Given the description of an element on the screen output the (x, y) to click on. 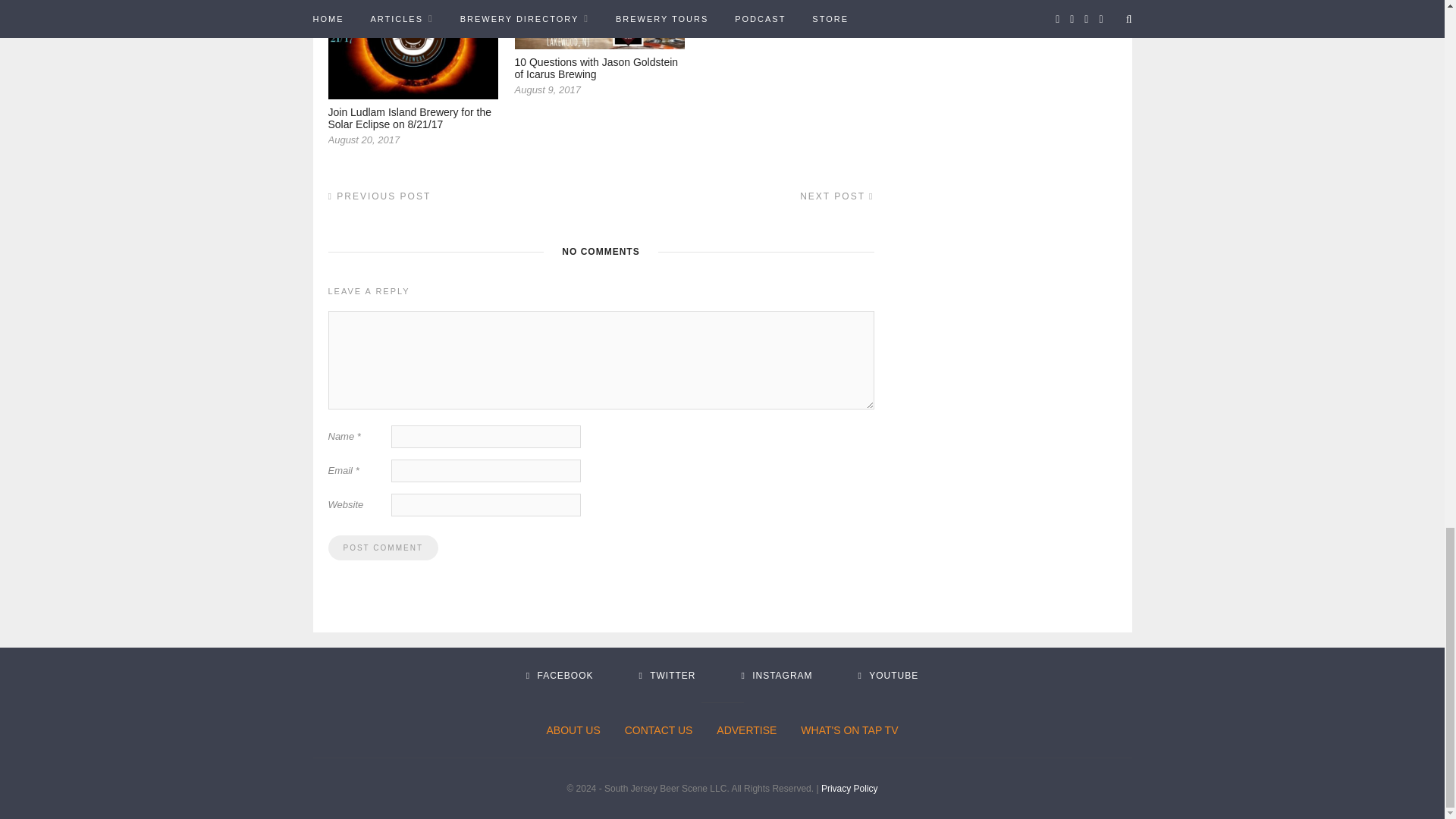
NEXT POST (836, 195)
PREVIOUS POST (378, 195)
10 Questions with Jason Goldstein of Icarus Brewing (595, 68)
Post Comment (382, 547)
